Given the description of an element on the screen output the (x, y) to click on. 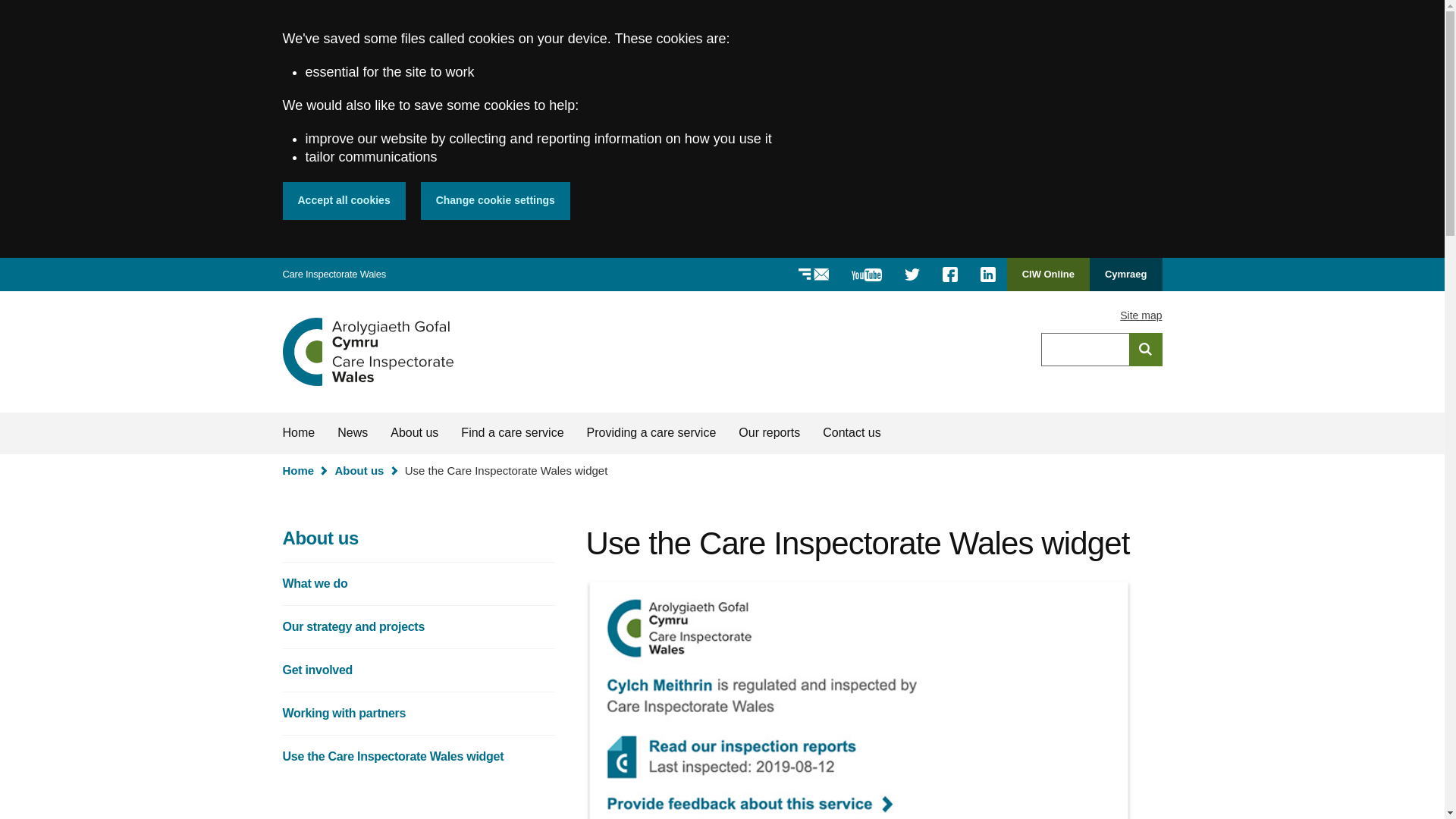
Search website (1144, 349)
Find a care service (512, 432)
Contact us (850, 432)
Home (298, 432)
Working with partners (418, 713)
Site map (1140, 315)
Change cookie settings (495, 200)
What we do (418, 583)
News (352, 432)
Facebook (950, 274)
Home (367, 351)
Home (298, 470)
Providing a care service (651, 432)
Home (367, 351)
Twitter (912, 274)
